Given the description of an element on the screen output the (x, y) to click on. 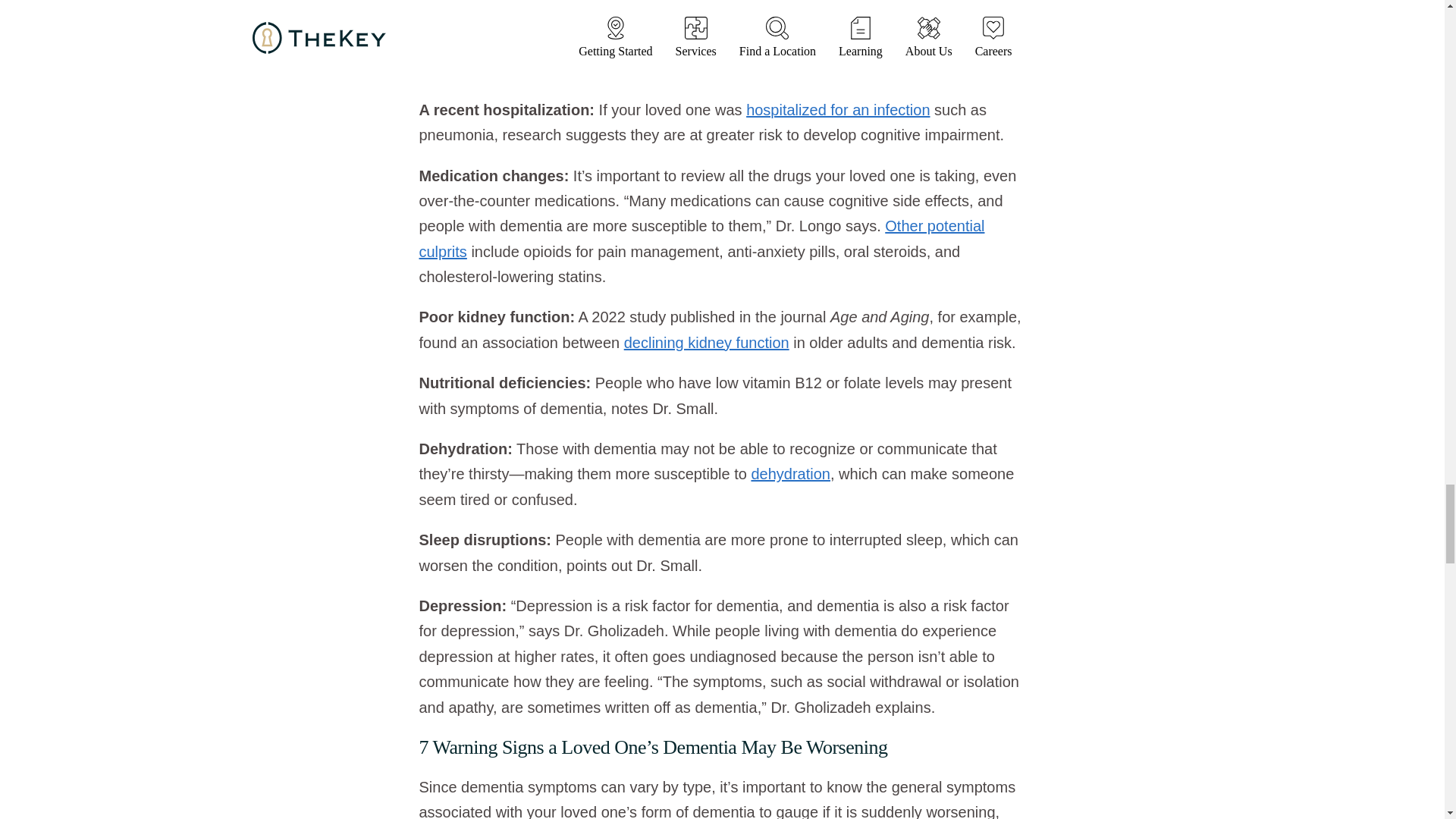
hospitalized for an infection (837, 109)
declining kidney function (706, 342)
dehydration (790, 474)
Other potential culprits (701, 238)
